Given the description of an element on the screen output the (x, y) to click on. 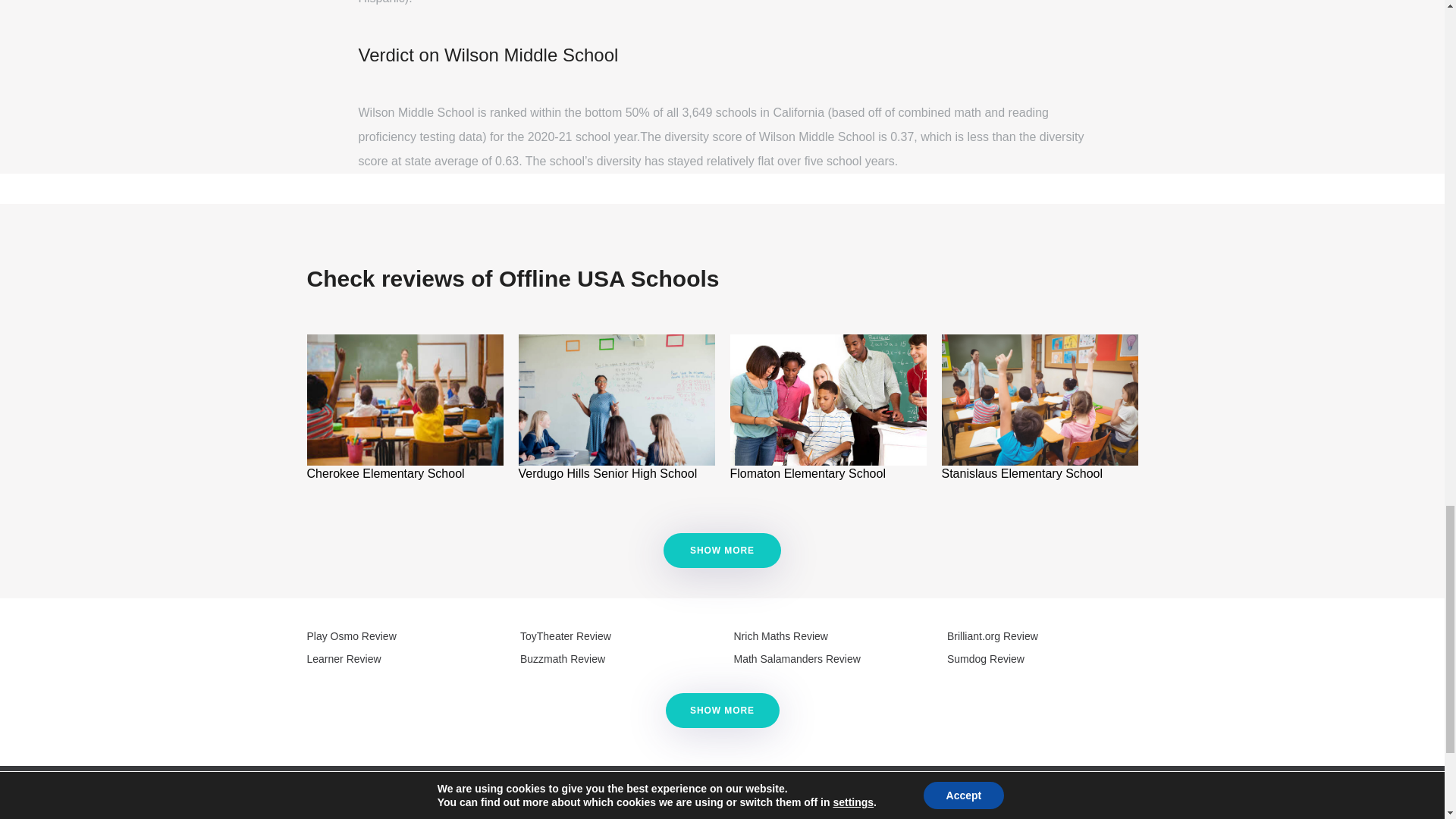
Play Osmo Review (350, 635)
Learner Review (342, 658)
SHOW MORE (721, 550)
SHOW MORE (721, 550)
